Given the description of an element on the screen output the (x, y) to click on. 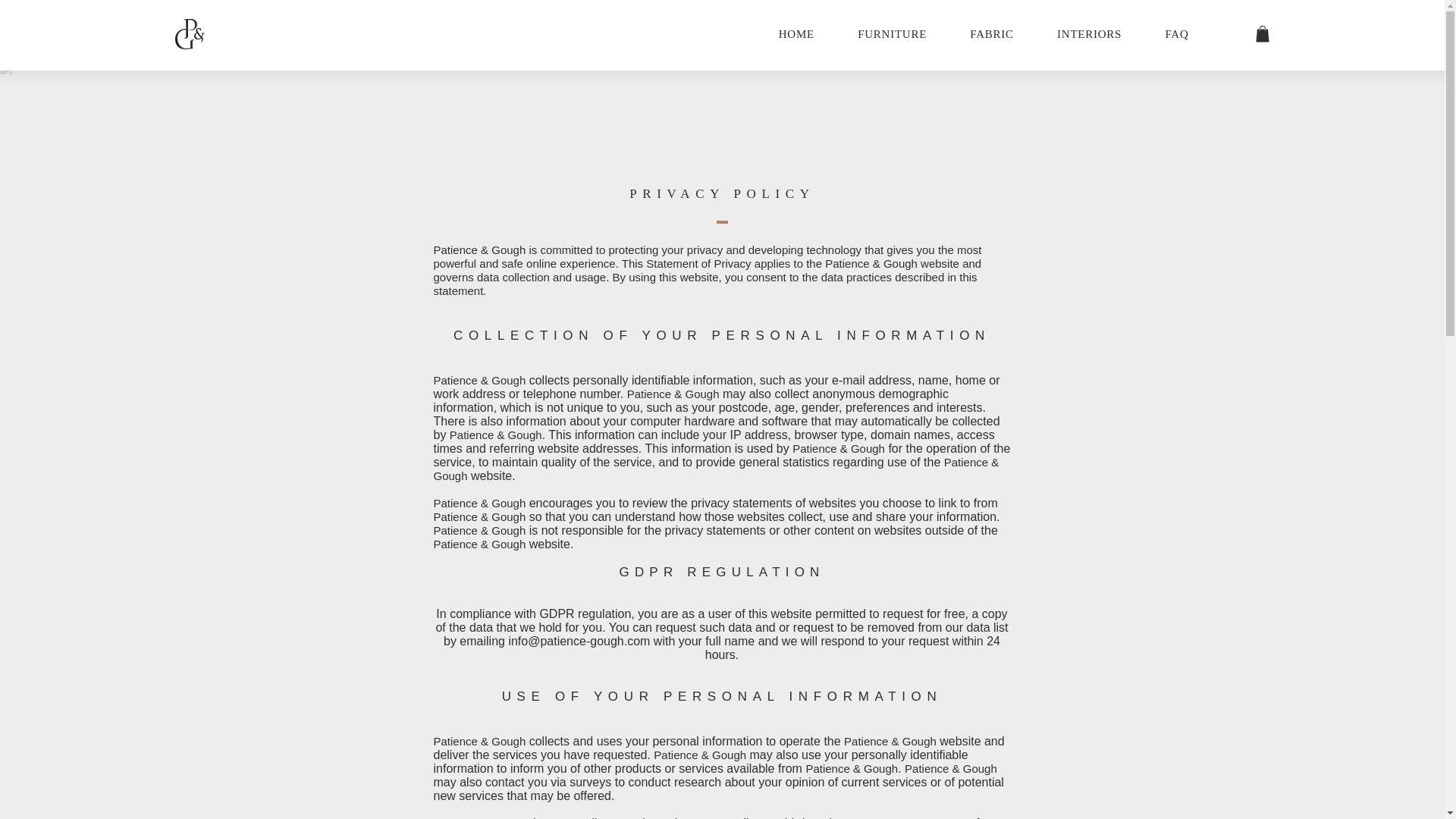
HOME (807, 34)
FURNITURE (903, 34)
INTERIORS (994, 34)
FAQ (1100, 34)
FABRIC (1187, 34)
